Given the description of an element on the screen output the (x, y) to click on. 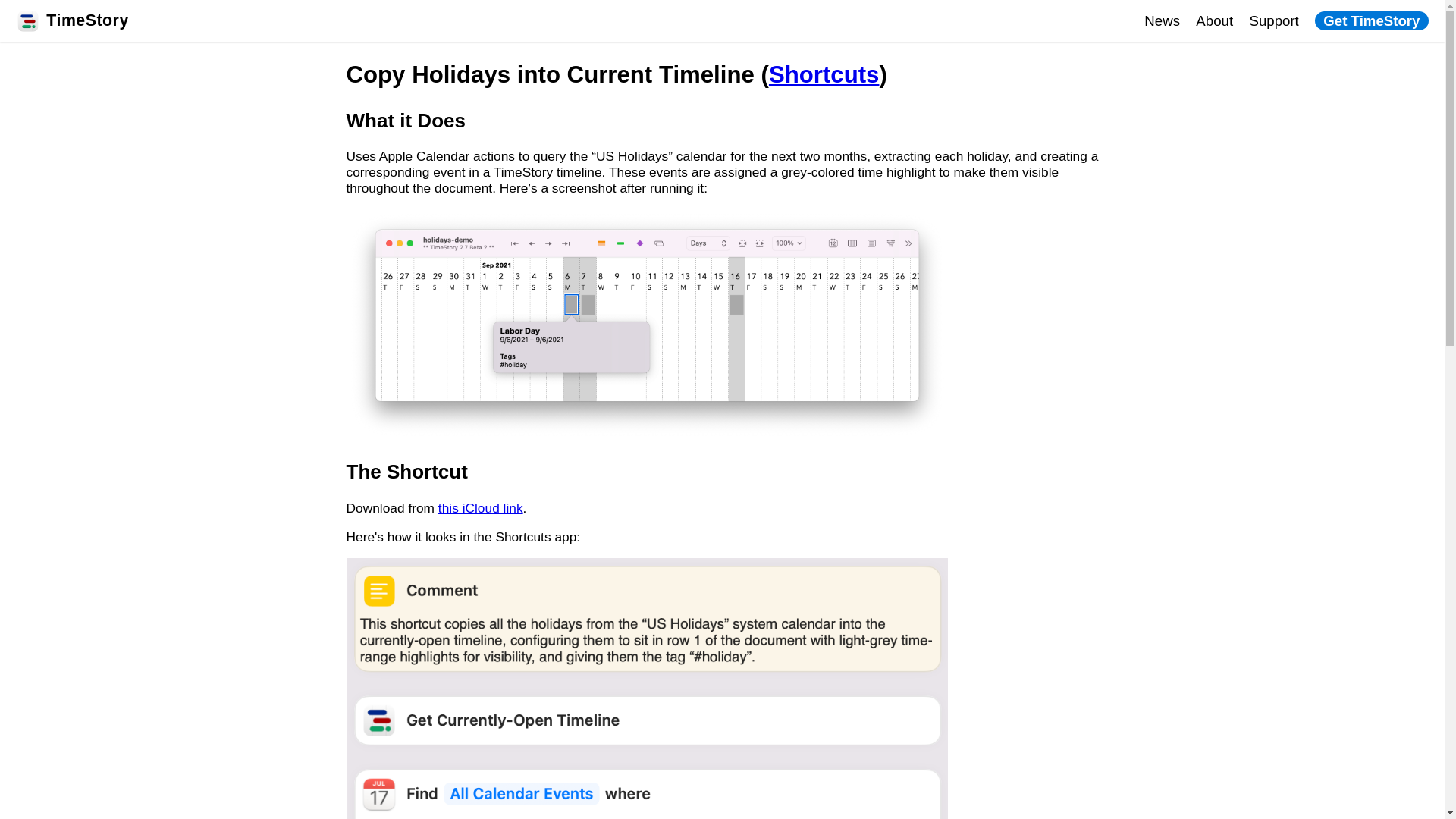
Shortcuts (823, 74)
Get TimeStory (1371, 20)
Support (1273, 20)
About (1214, 20)
News (1161, 20)
this iCloud link (480, 507)
TimeStory (87, 20)
